Given the description of an element on the screen output the (x, y) to click on. 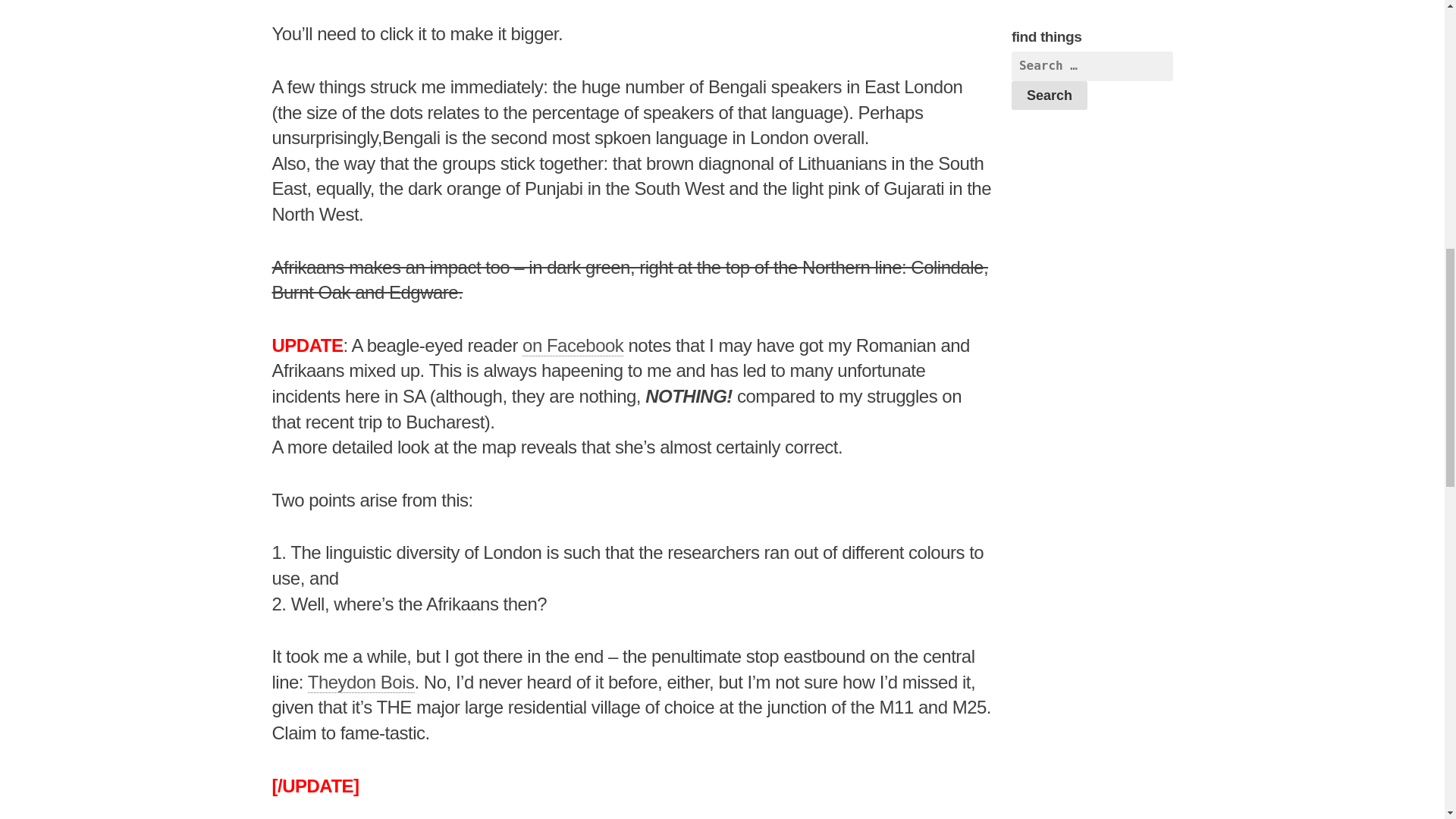
Link (572, 345)
Theydon Bois (360, 681)
on Facebook (572, 345)
Search (1049, 95)
Link (360, 681)
Search (1049, 95)
